Given the description of an element on the screen output the (x, y) to click on. 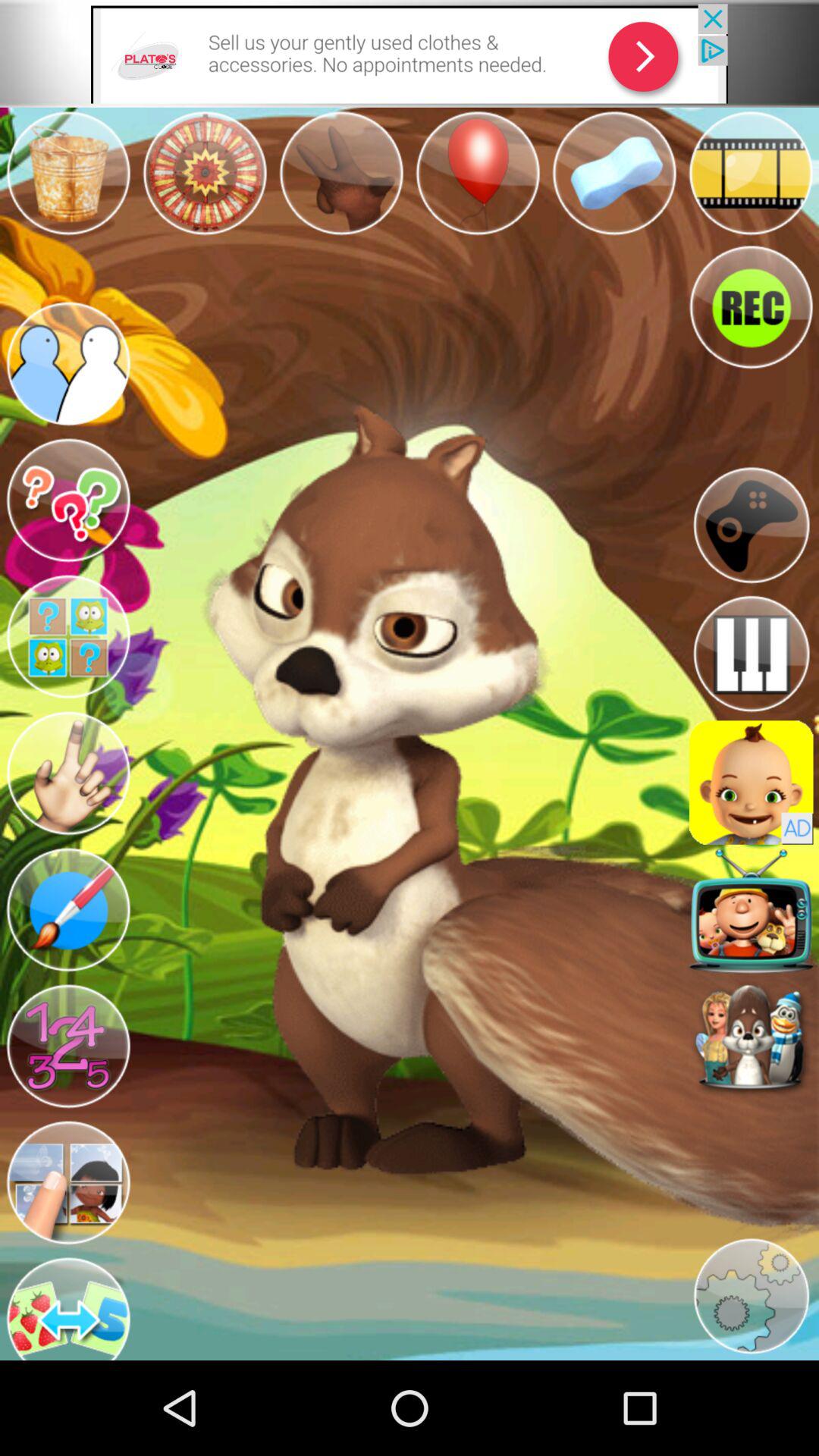
make them sing (751, 910)
